Given the description of an element on the screen output the (x, y) to click on. 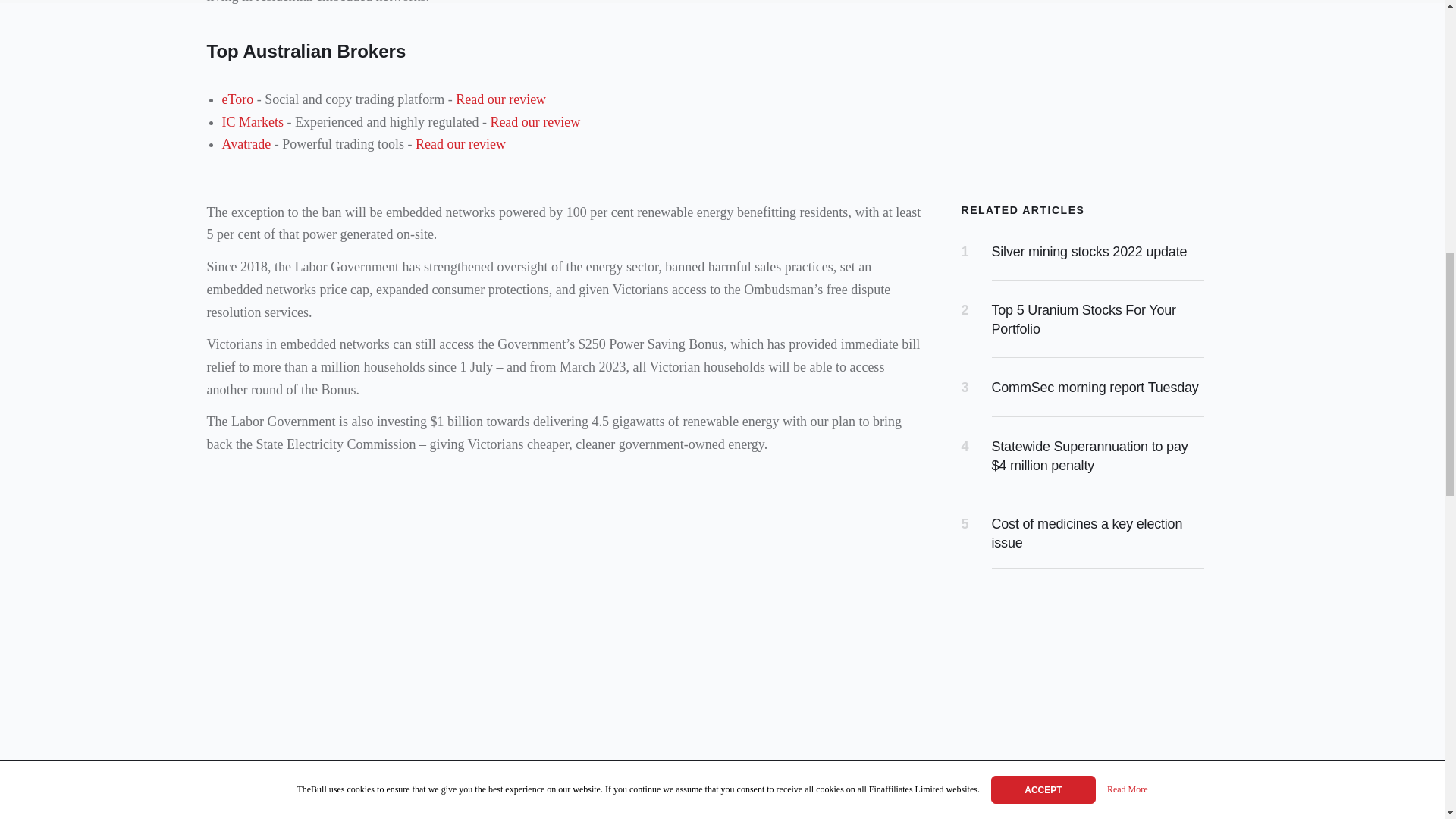
Silver mining stocks 2022 update (1089, 251)
Read our review (534, 121)
Read our review (500, 99)
Read our review (459, 143)
CommSec morning report Tuesday (1094, 387)
Silver mining stocks 2022 update (1089, 251)
Avatrade (245, 143)
Cost of medicines a key election issue (1086, 533)
Top 5 Uranium Stocks For Your Portfolio (1083, 319)
eToro (237, 99)
